Given the description of an element on the screen output the (x, y) to click on. 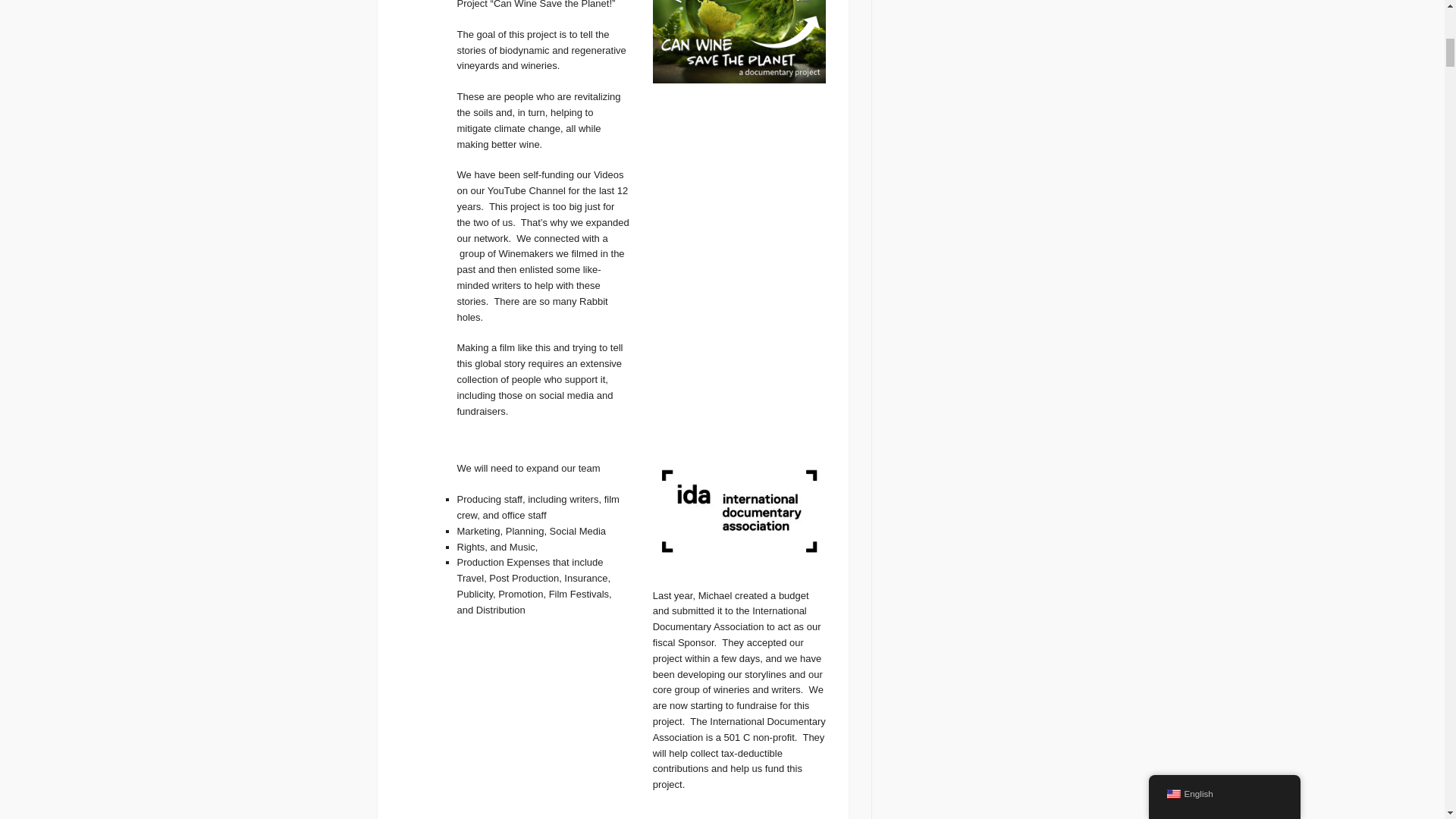
CWSTP 2 carousel Earth Month-2 (738, 41)
